Given the description of an element on the screen output the (x, y) to click on. 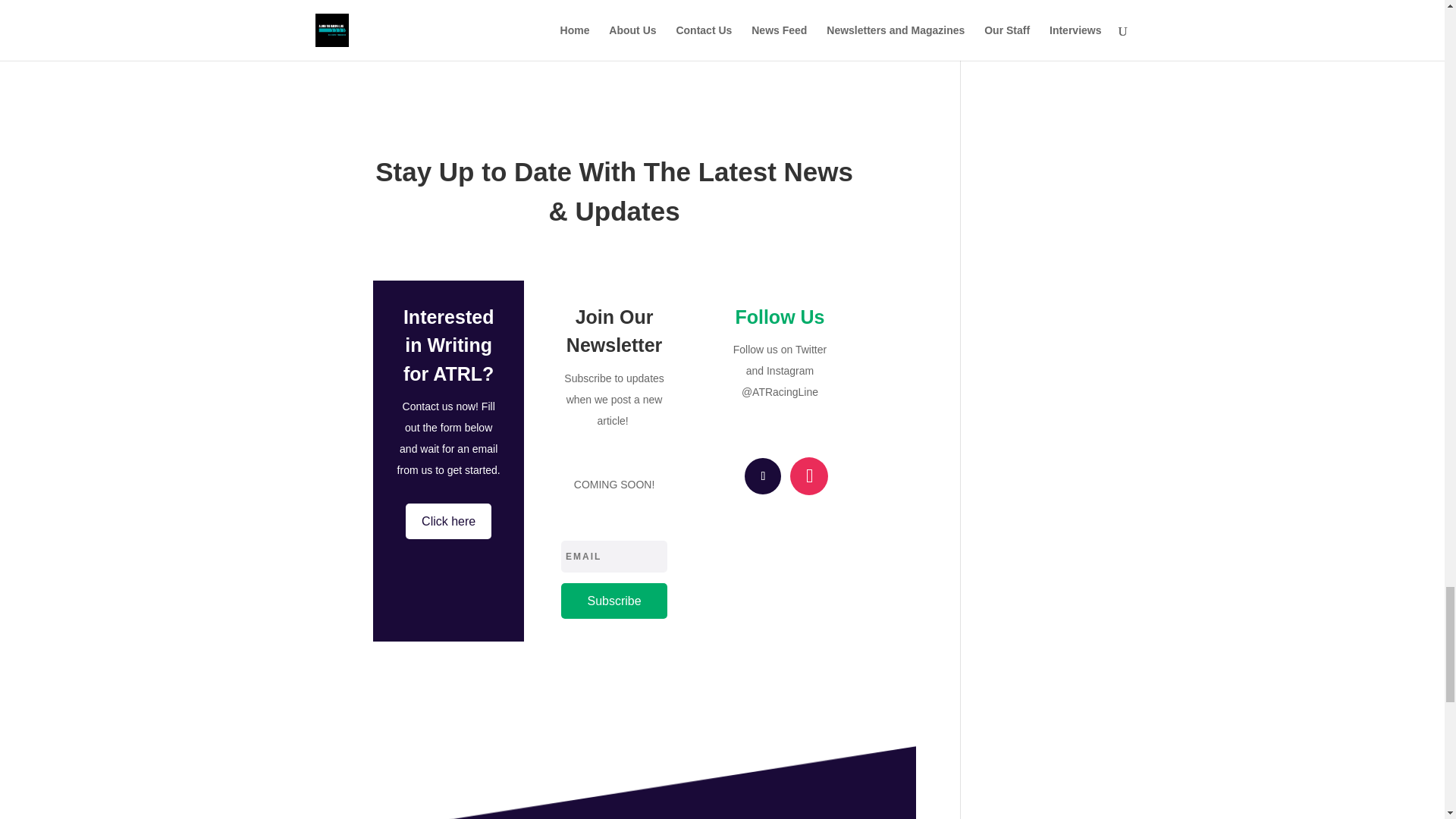
Click here (449, 520)
Subscribe (613, 601)
Follow on Instagram (809, 476)
Follow on X (762, 475)
